Given the description of an element on the screen output the (x, y) to click on. 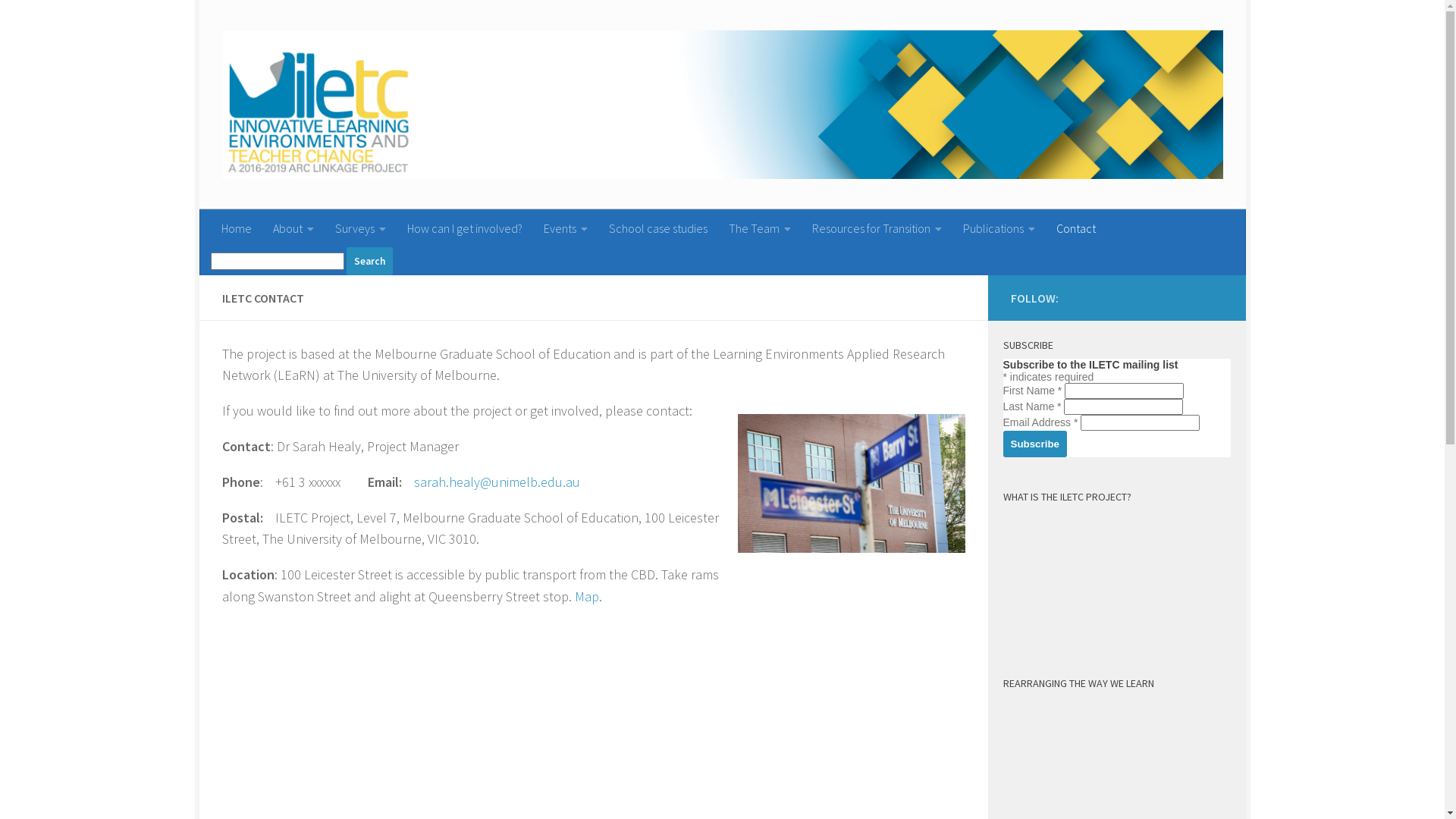
Subscribe Element type: text (1034, 443)
Publications Element type: text (998, 228)
Surveys Element type: text (360, 228)
How can I get involved? Element type: text (463, 228)
School case studies Element type: text (657, 228)
sarah.healy@unimelb.edu.au  Element type: text (498, 481)
Skip to content Element type: text (260, 21)
The Team Element type: text (758, 228)
Contact Element type: text (1074, 228)
Resources for Transition Element type: text (875, 228)
Twitter Element type: hover (1188, 297)
Map Element type: text (586, 596)
About Element type: text (293, 228)
Events Element type: text (564, 228)
Home Element type: text (236, 228)
Search Element type: text (368, 261)
ILETC | Home page Element type: hover (721, 104)
